Given the description of an element on the screen output the (x, y) to click on. 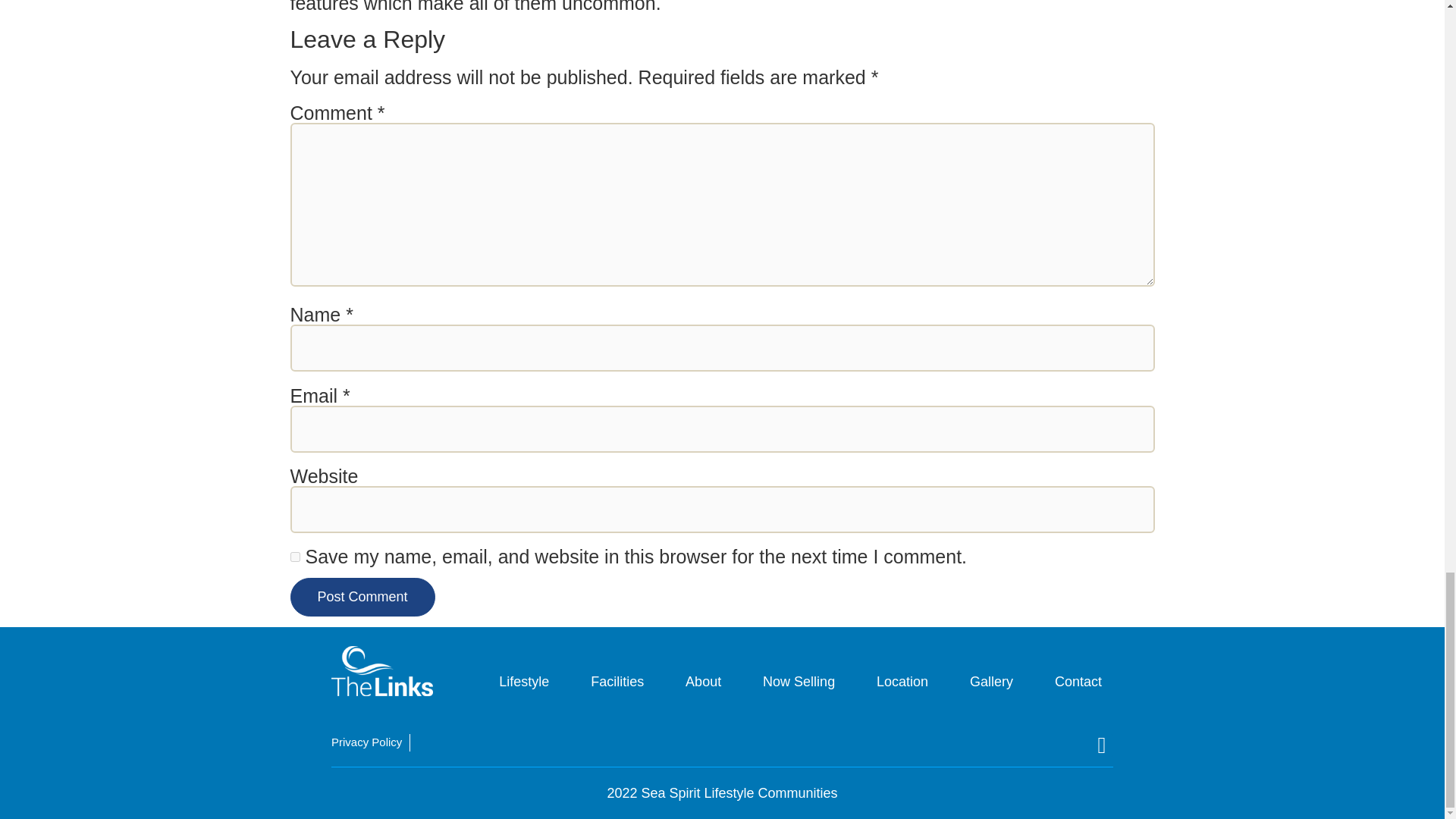
Lifestyle (523, 681)
Post Comment (361, 597)
Location (901, 681)
Now Selling (798, 681)
Facilities (617, 681)
Gallery (991, 681)
About (703, 681)
Contact (1078, 681)
Privacy Policy (366, 741)
yes (294, 556)
Post Comment (361, 597)
